Given the description of an element on the screen output the (x, y) to click on. 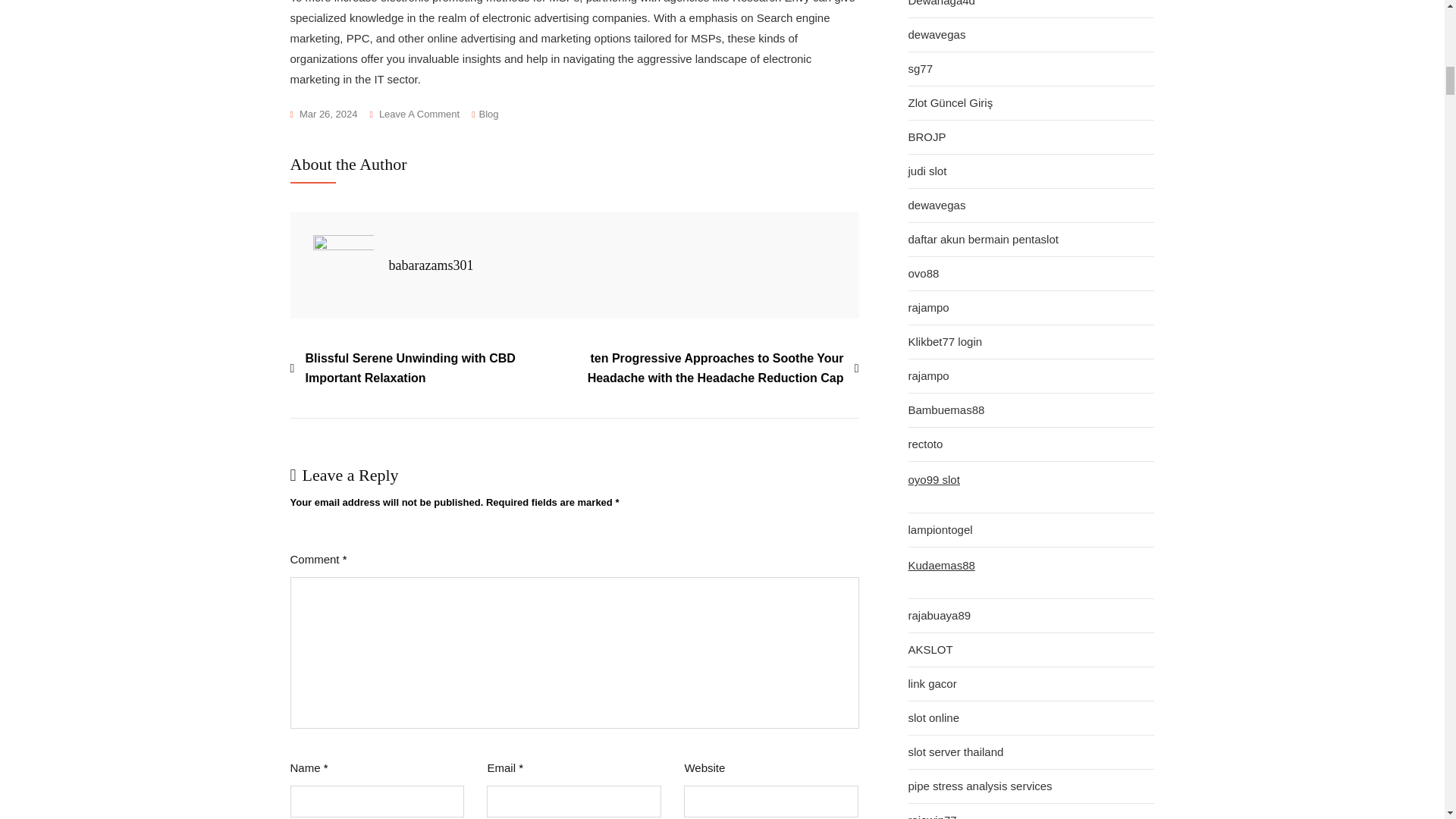
Mar 26, 2024 (322, 114)
Blog (489, 114)
babarazams301 (430, 264)
Blissful Serene Unwinding with CBD Important Relaxation (431, 367)
